Given the description of an element on the screen output the (x, y) to click on. 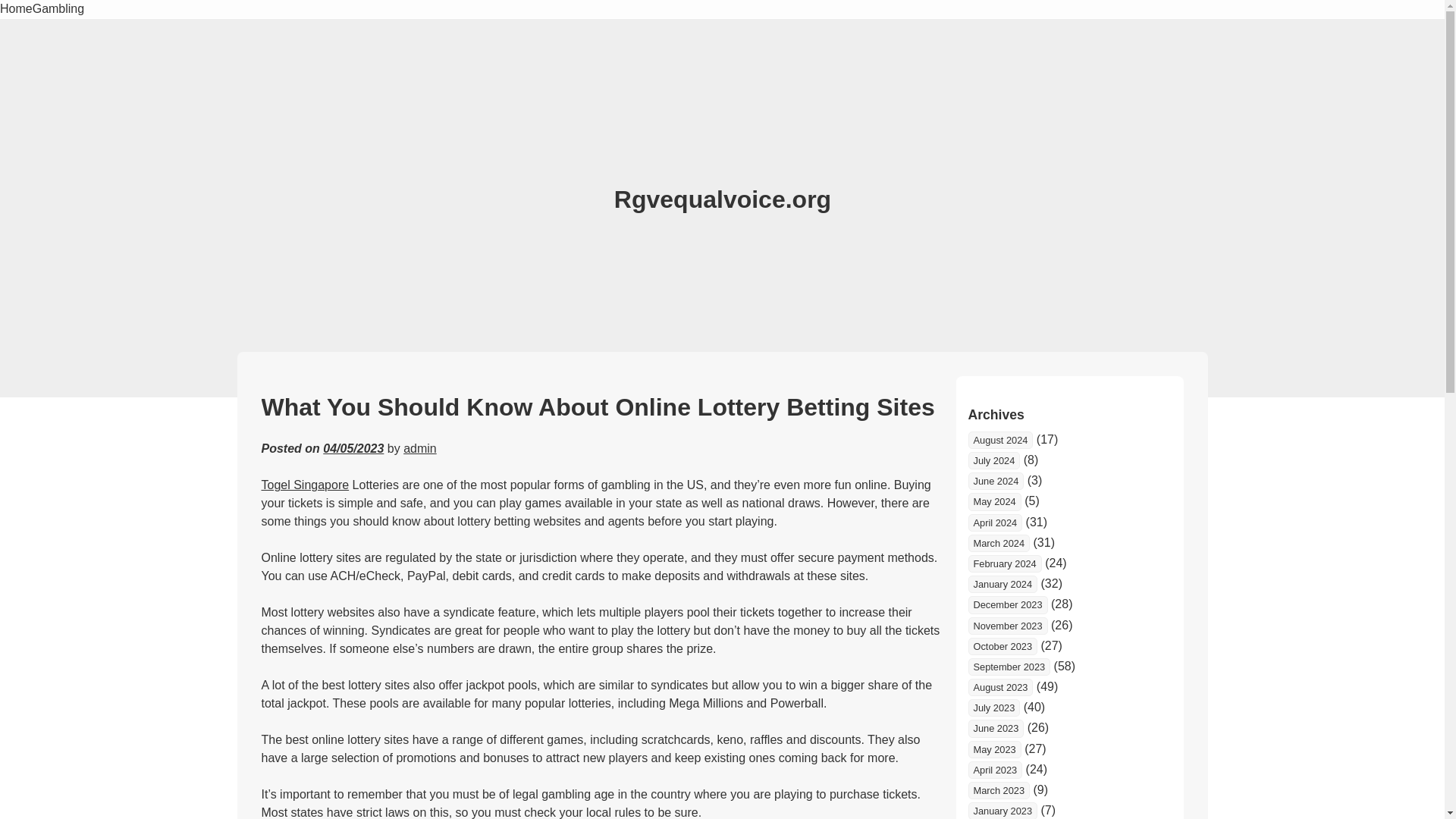
December 2023 (1007, 604)
July 2023 (994, 707)
Gambling (58, 9)
August 2023 (1000, 687)
admin (419, 448)
July 2024 (994, 460)
April 2024 (995, 522)
September 2023 (1008, 666)
April 2023 (995, 769)
January 2024 (1002, 583)
